Given the description of an element on the screen output the (x, y) to click on. 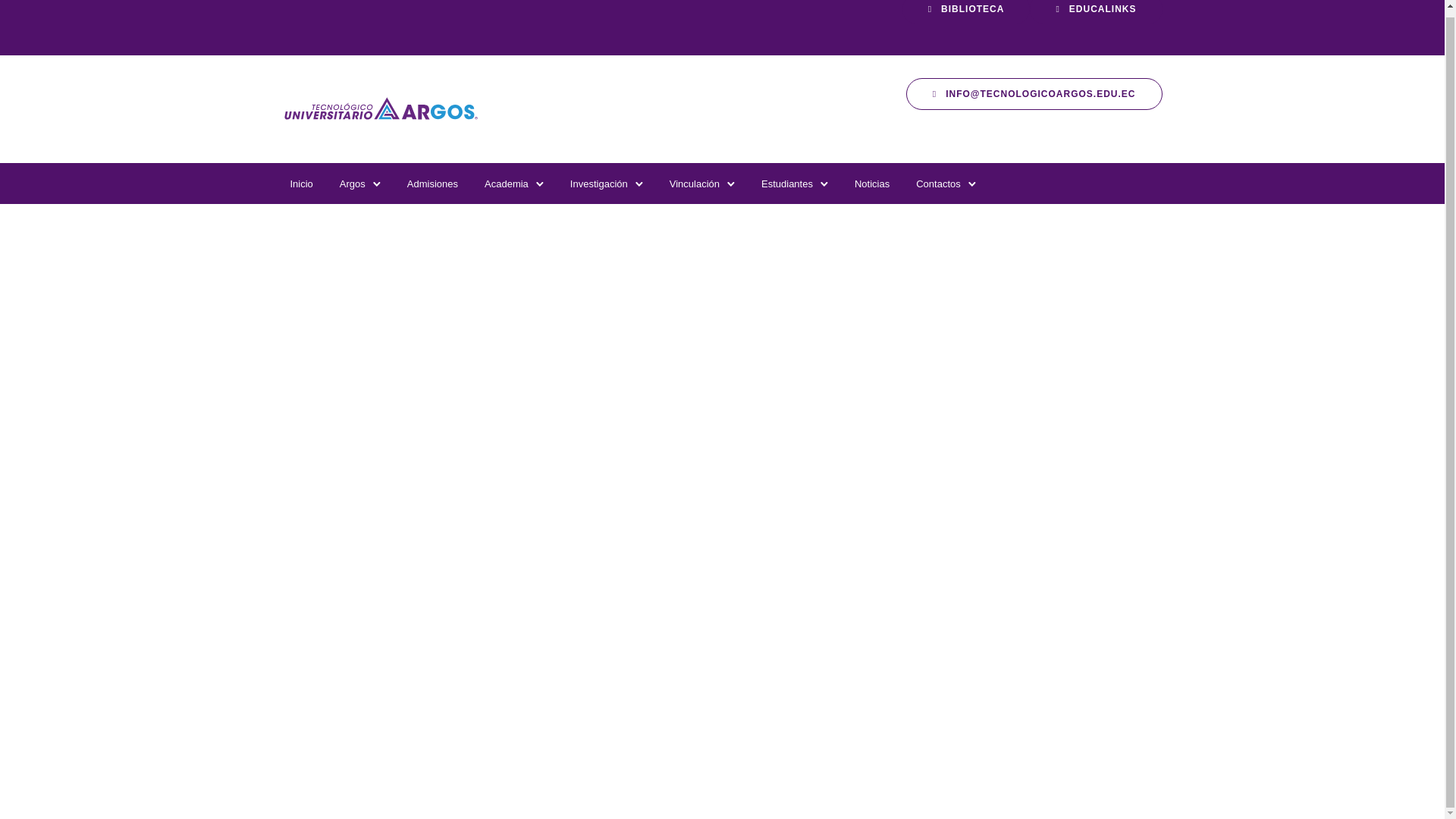
Inicio (301, 183)
Admisiones (431, 183)
BIBLIOTECA (966, 12)
EDUCALINKS (1095, 12)
Argos (351, 183)
Argos (351, 183)
Inicio (301, 183)
Admisiones (431, 183)
Academia (506, 183)
Estudiantes (787, 183)
